Given the description of an element on the screen output the (x, y) to click on. 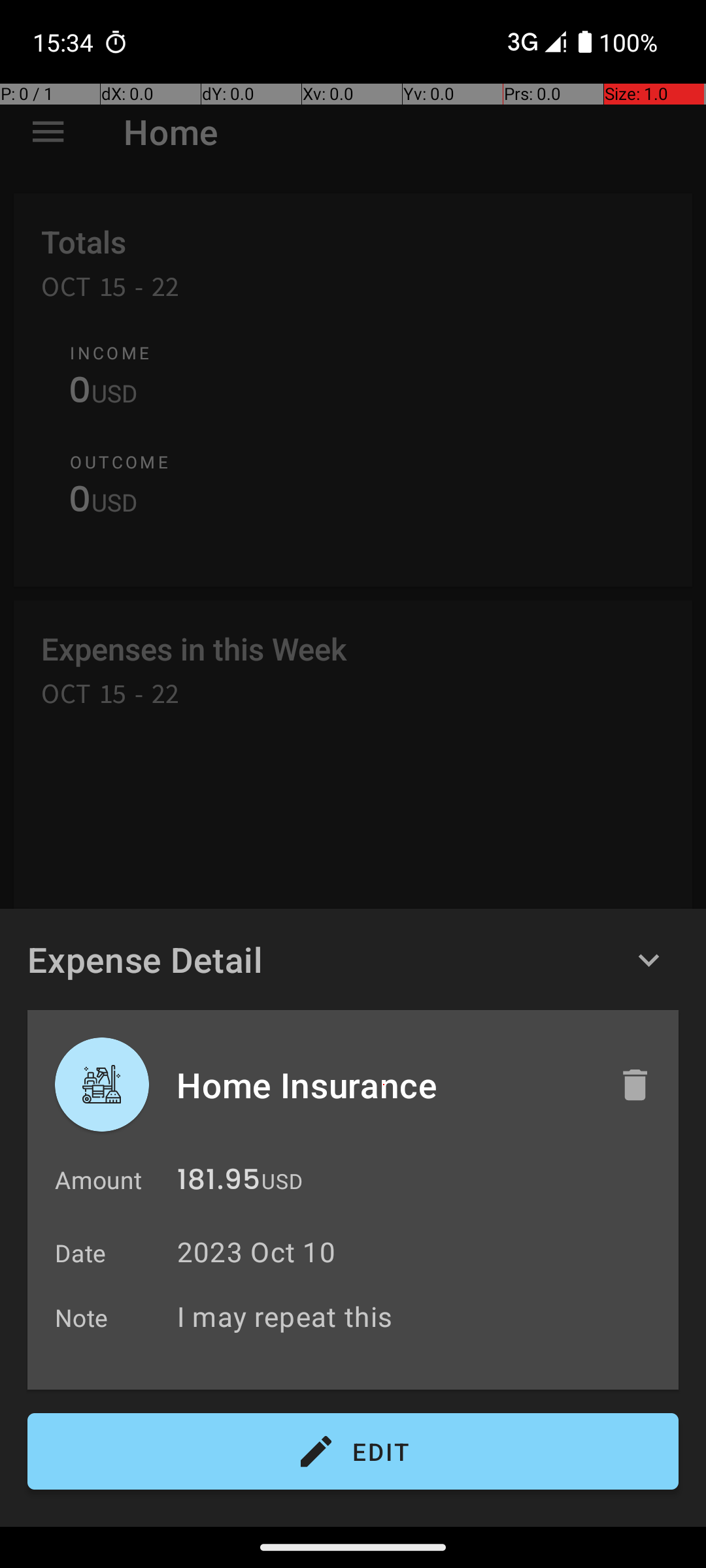
Home Insurance Element type: android.widget.TextView (383, 1084)
181.95 Element type: android.widget.TextView (218, 1182)
